Given the description of an element on the screen output the (x, y) to click on. 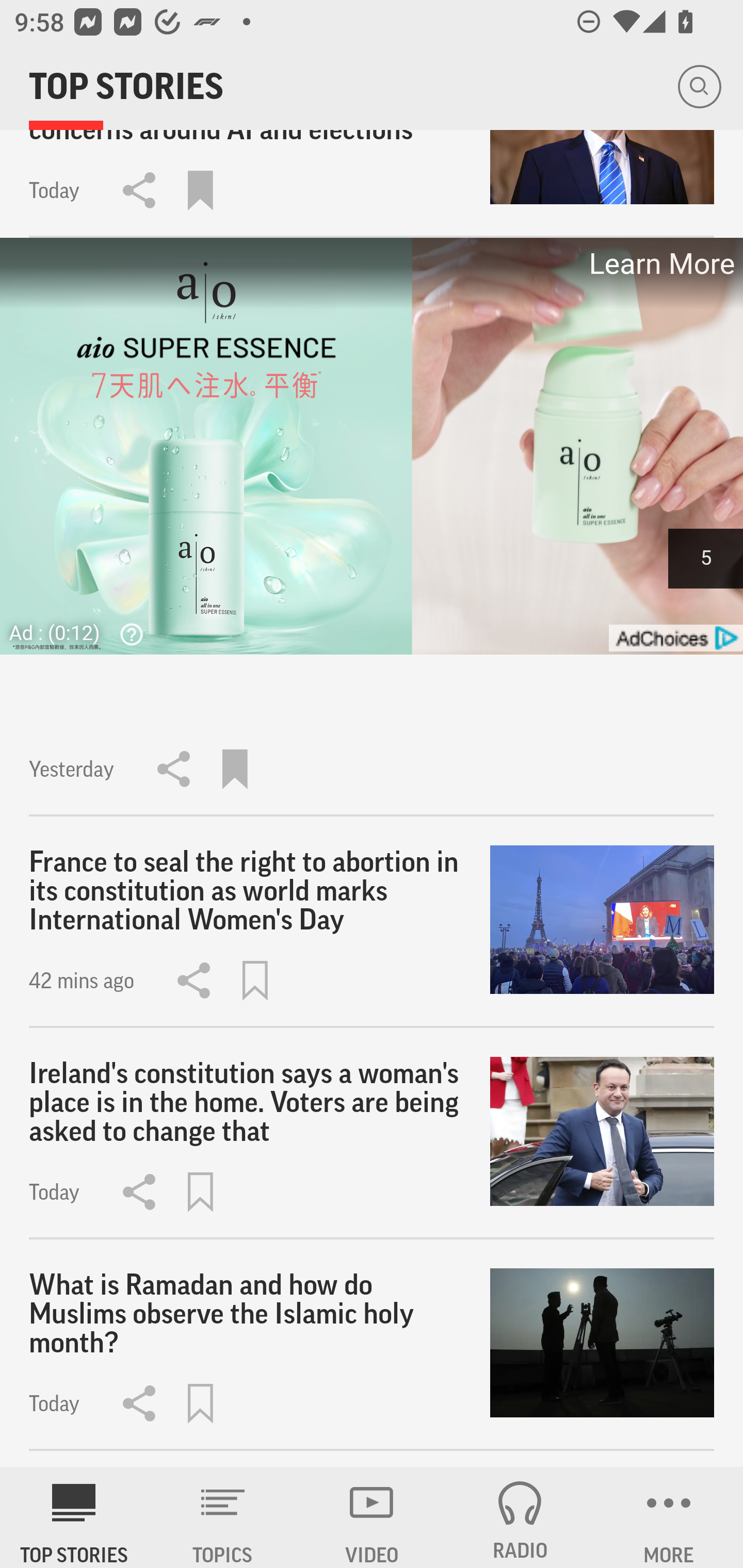
Learn More (660, 264)
Skip Ad Countdown (705, 557)
Ad : (0:12) Why This Ad? (82, 632)
Why This Ad? (126, 633)
get?name=admarker-full-tl (675, 638)
AP News TOP STORIES (74, 1517)
TOPICS (222, 1517)
VIDEO (371, 1517)
RADIO (519, 1517)
MORE (668, 1517)
